Given the description of an element on the screen output the (x, y) to click on. 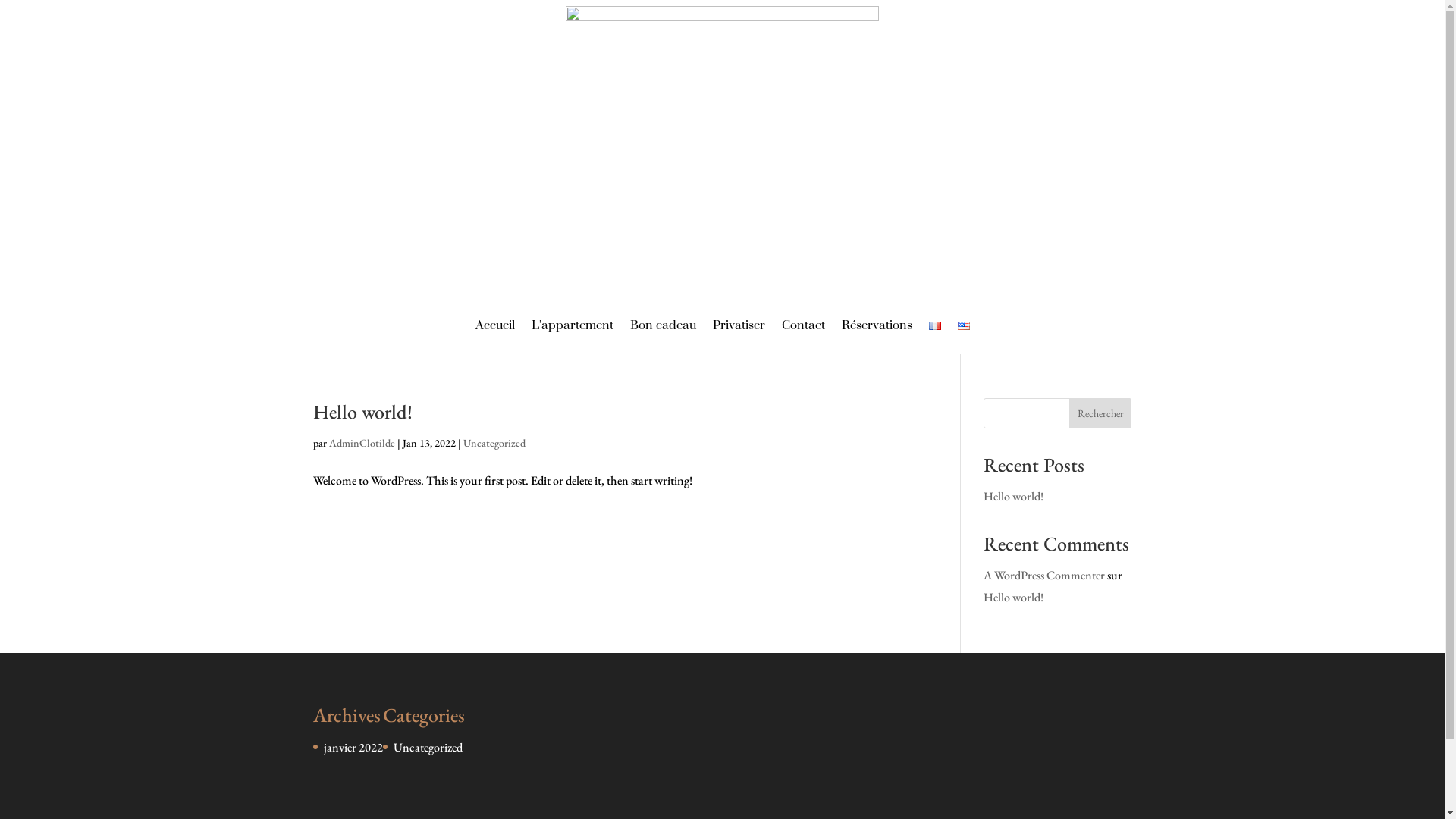
A WordPress Commenter Element type: text (1043, 575)
Bon cadeau Element type: text (662, 325)
Accueil Element type: text (494, 325)
Hello world! Element type: text (1013, 597)
AdminClotilde Element type: text (362, 442)
Uncategorized Element type: text (493, 442)
Hello world! Element type: text (361, 411)
Uncategorized Element type: text (426, 747)
Contact Element type: text (802, 325)
janvier 2022 Element type: text (352, 747)
Hello world! Element type: text (1013, 496)
Privatiser Element type: text (738, 325)
Rechercher Element type: text (1100, 413)
